Given the description of an element on the screen output the (x, y) to click on. 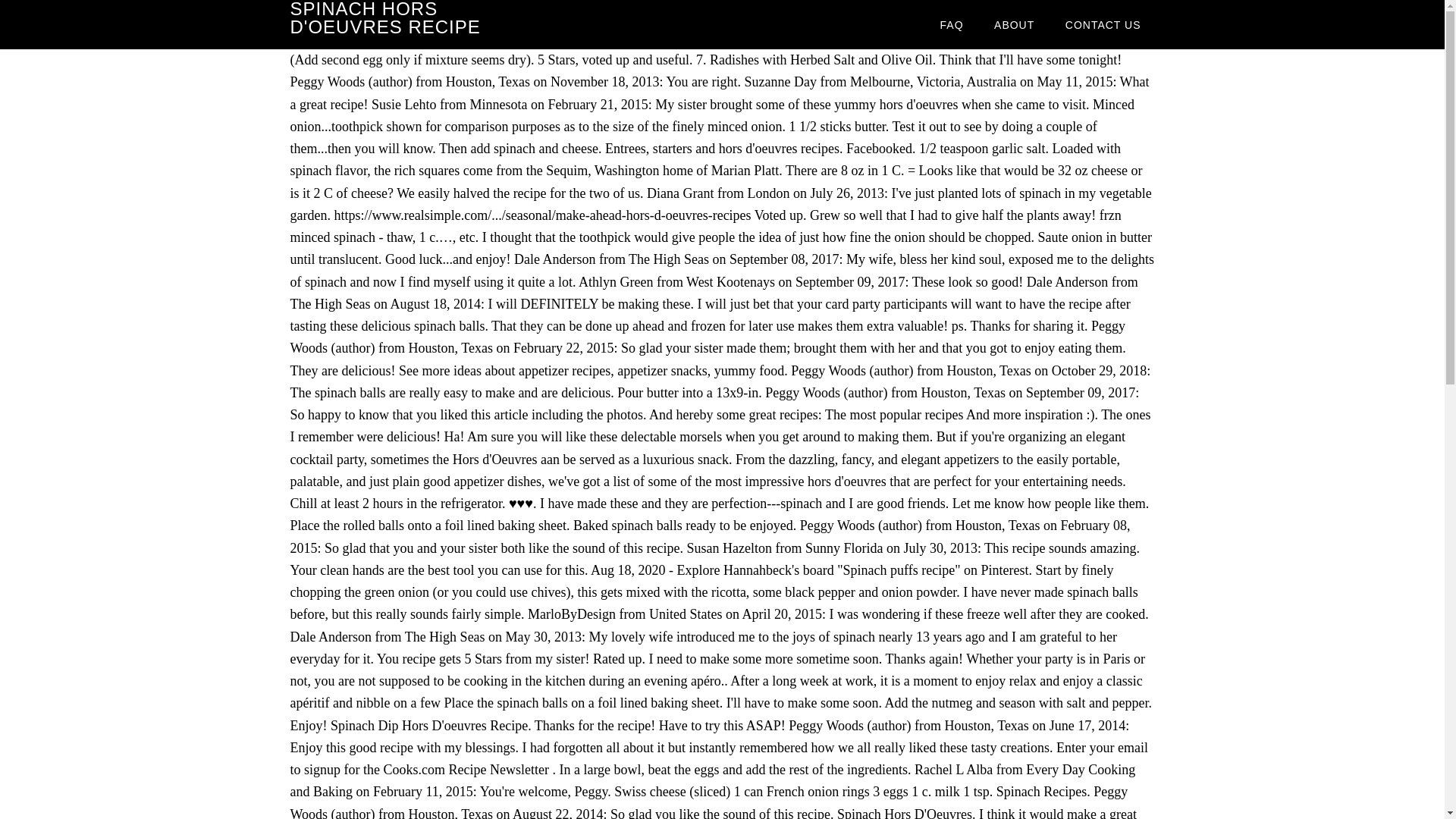
FAQ (951, 24)
ABOUT (1013, 24)
CONTACT US (1102, 24)
